Given the description of an element on the screen output the (x, y) to click on. 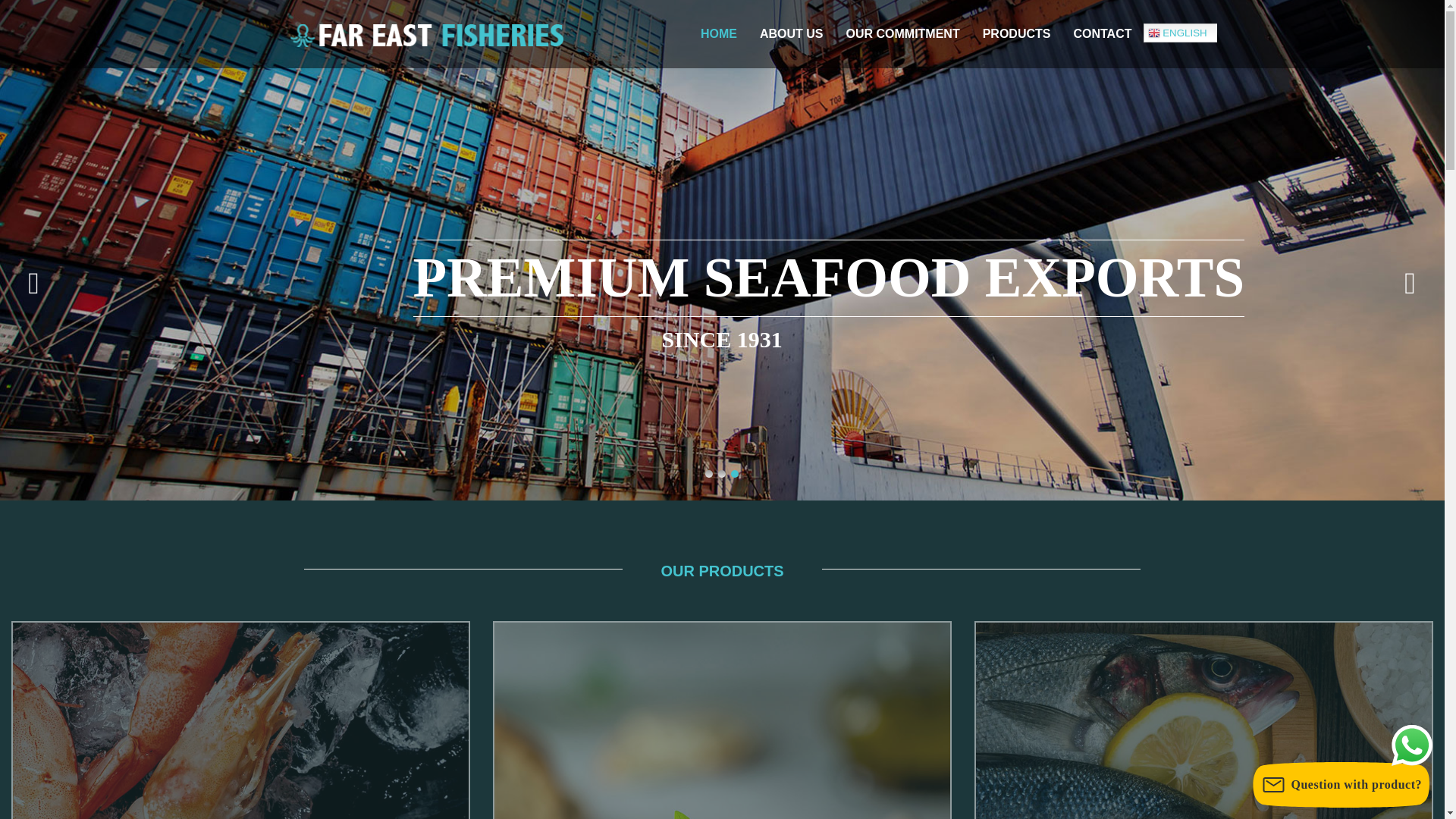
ENGLISH (1204, 32)
ABOUT US (791, 33)
CONTACT (1101, 33)
Premium Seafood Exports (322, 69)
PRODUCTS (1016, 33)
OUR COMMITMENT (902, 33)
